Given the description of an element on the screen output the (x, y) to click on. 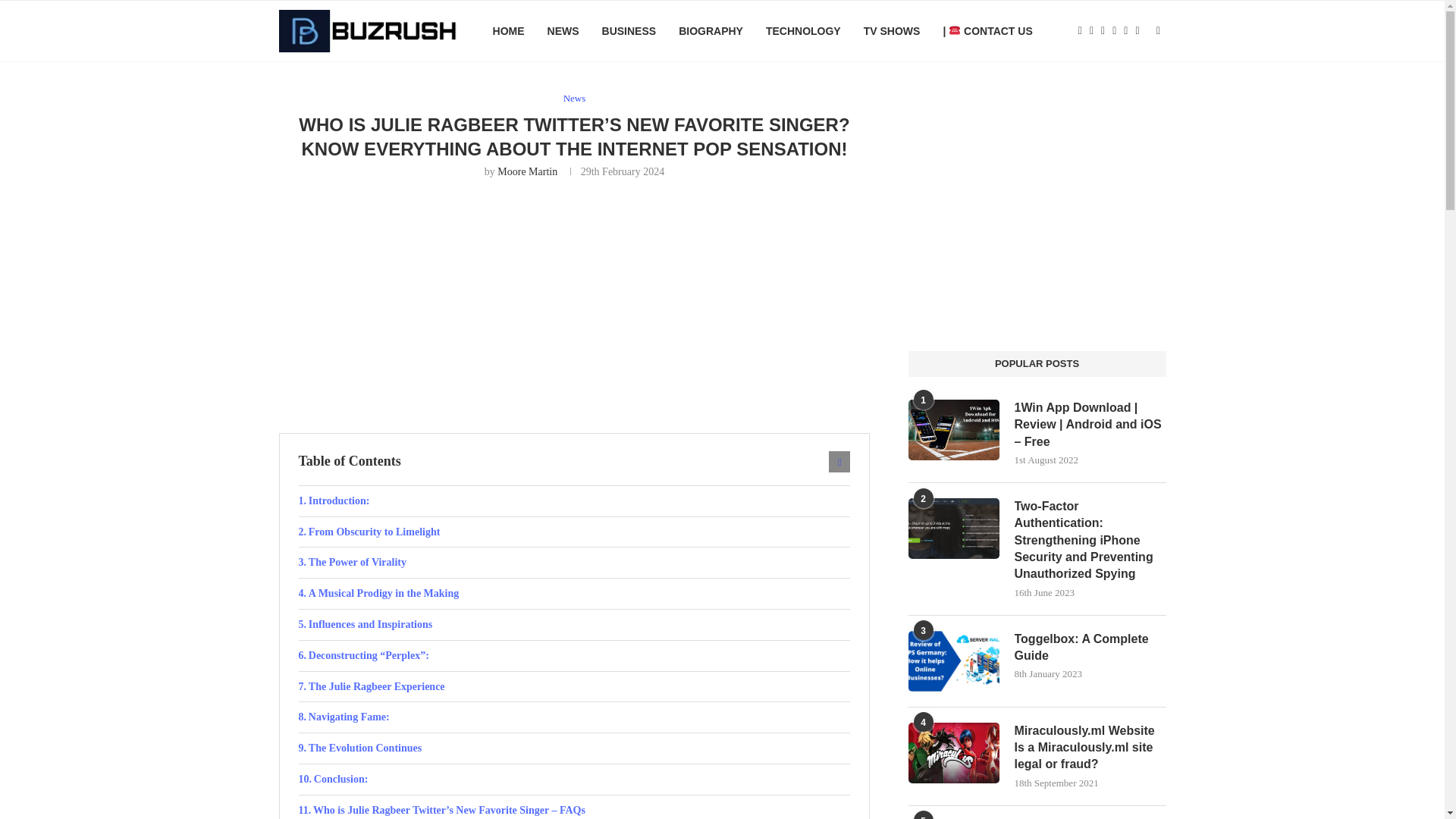
The Julie Ragbeer Experience (574, 686)
The Evolution Continues (574, 748)
A Musical Prodigy in the Making (574, 593)
BUSINESS (629, 30)
Advertisement (574, 304)
BIOGRAPHY (710, 30)
Conclusion: (574, 779)
The Power of Virality (574, 562)
From Obscurity to Limelight (574, 531)
A Musical Prodigy in the Making (574, 593)
Moore Martin (527, 171)
From Obscurity to Limelight (574, 531)
Influences and Inspirations (574, 624)
Introduction: (574, 501)
Navigating Fame: (574, 716)
